Given the description of an element on the screen output the (x, y) to click on. 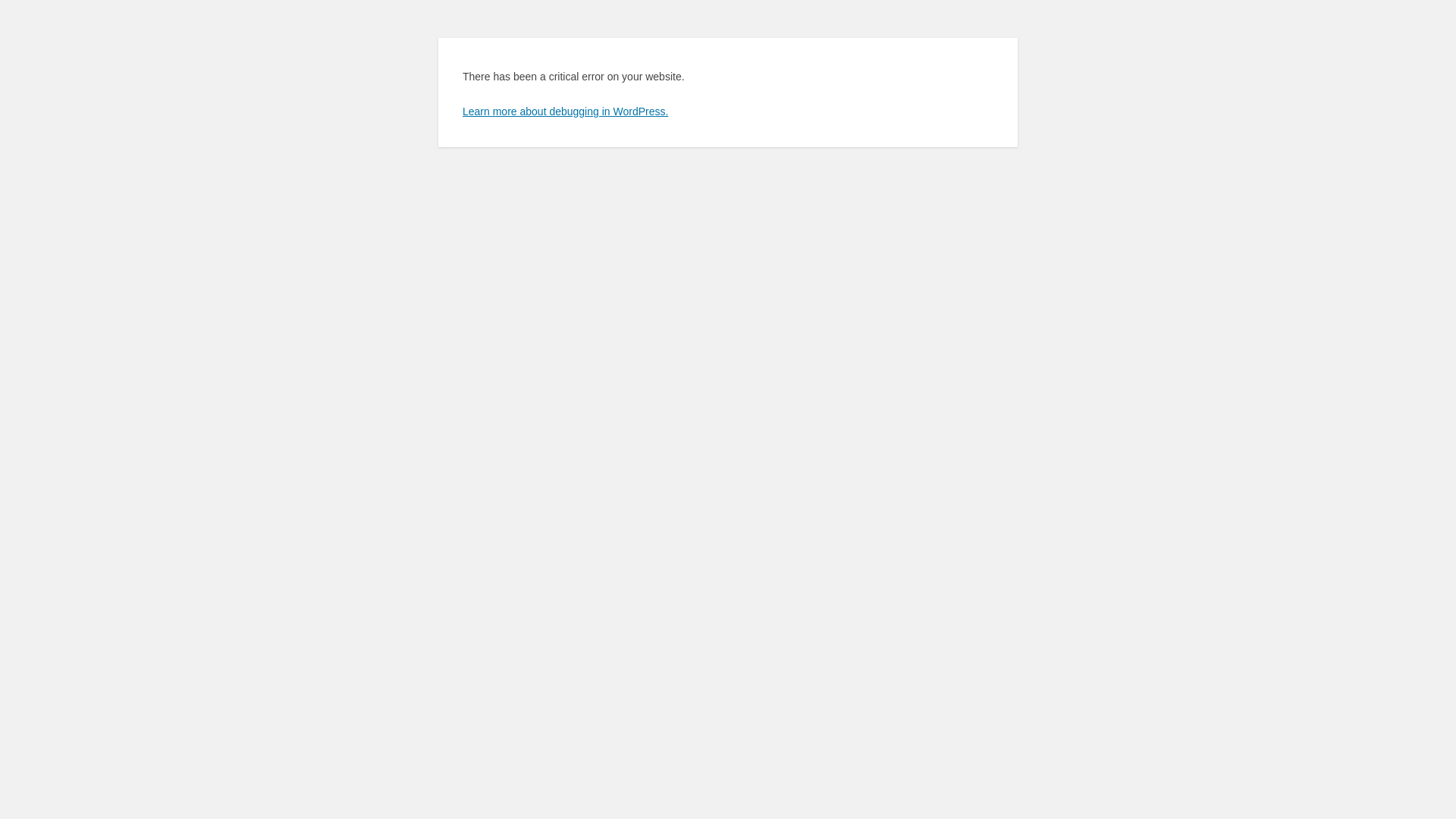
Learn more about debugging in WordPress. Element type: text (565, 111)
